Given the description of an element on the screen output the (x, y) to click on. 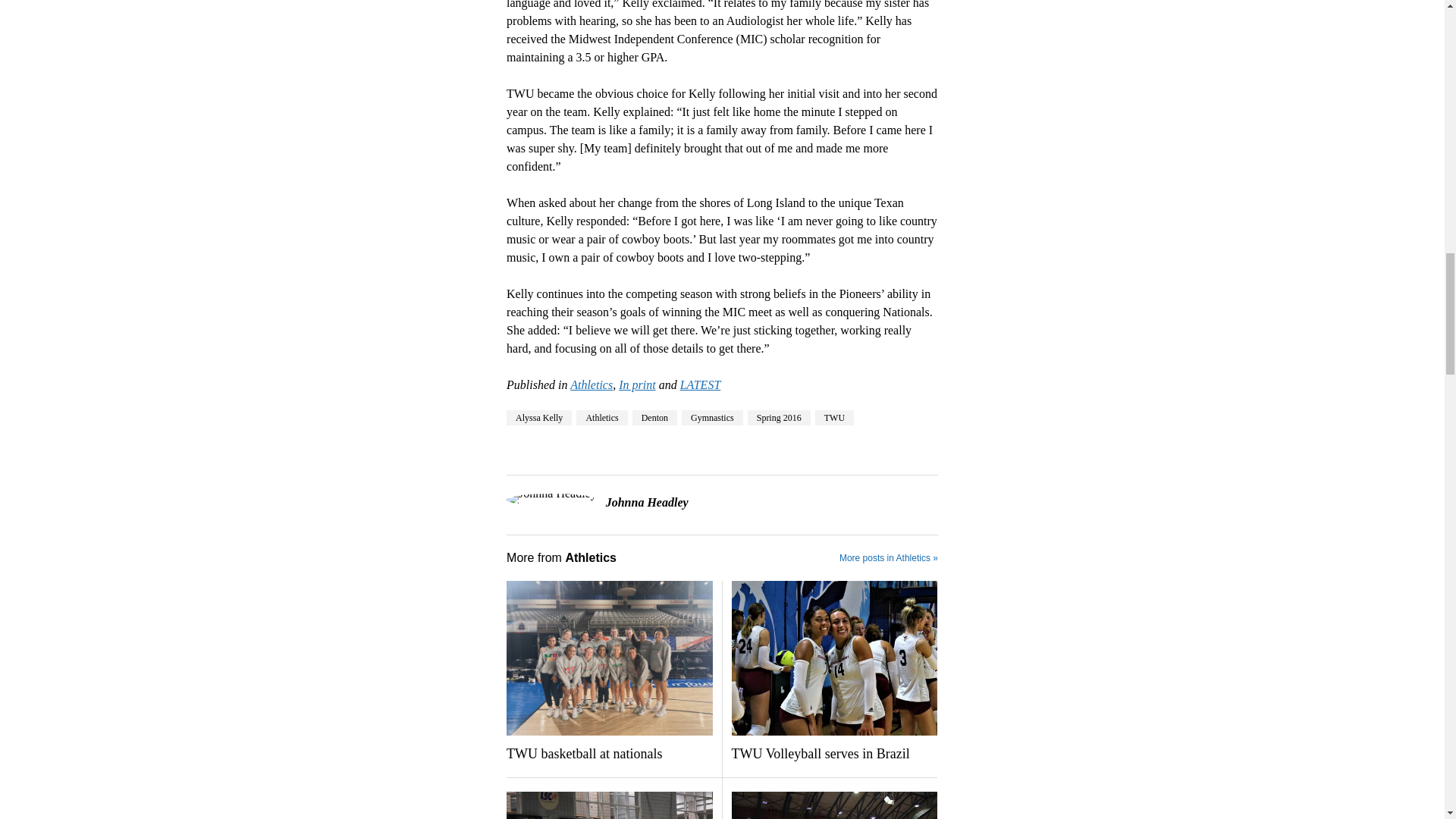
View all posts tagged Denton (654, 417)
View all posts tagged Gymnastics (711, 417)
View all posts in LATEST (699, 384)
View all posts in Athletics (591, 384)
View all posts tagged Alyssa Kelly (539, 417)
View all posts tagged TWU (834, 417)
View all posts tagged Athletics (601, 417)
View all posts tagged Spring 2016 (779, 417)
View all posts in In print (636, 384)
